Given the description of an element on the screen output the (x, y) to click on. 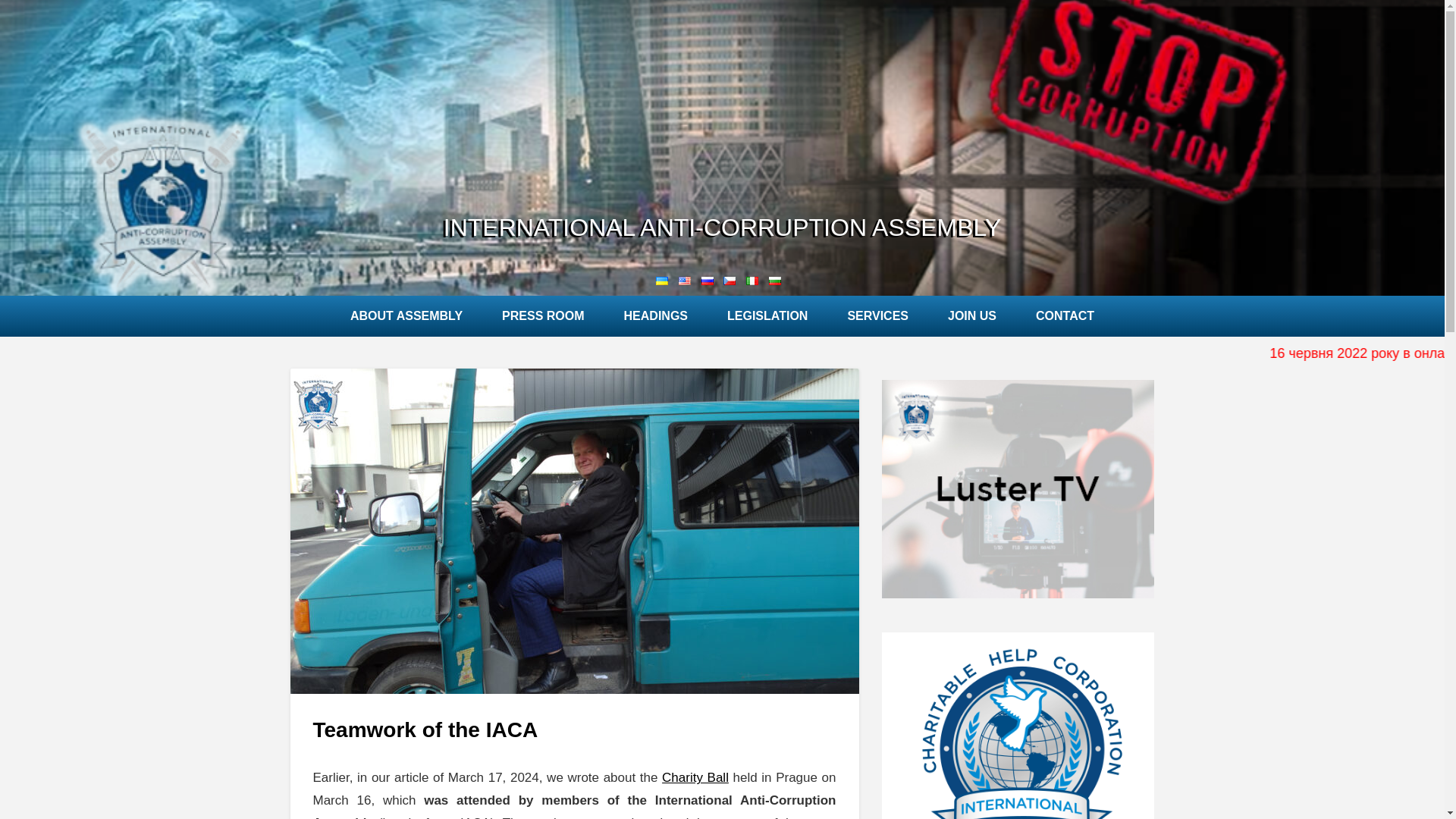
PRESS ROOM (542, 315)
CONTACT (1064, 315)
HEADINGS (655, 315)
SERVICES (877, 315)
LEGISLATION (767, 315)
JOIN US (971, 315)
Charity Ball (695, 777)
ABOUT ASSEMBLY (406, 315)
